Given the description of an element on the screen output the (x, y) to click on. 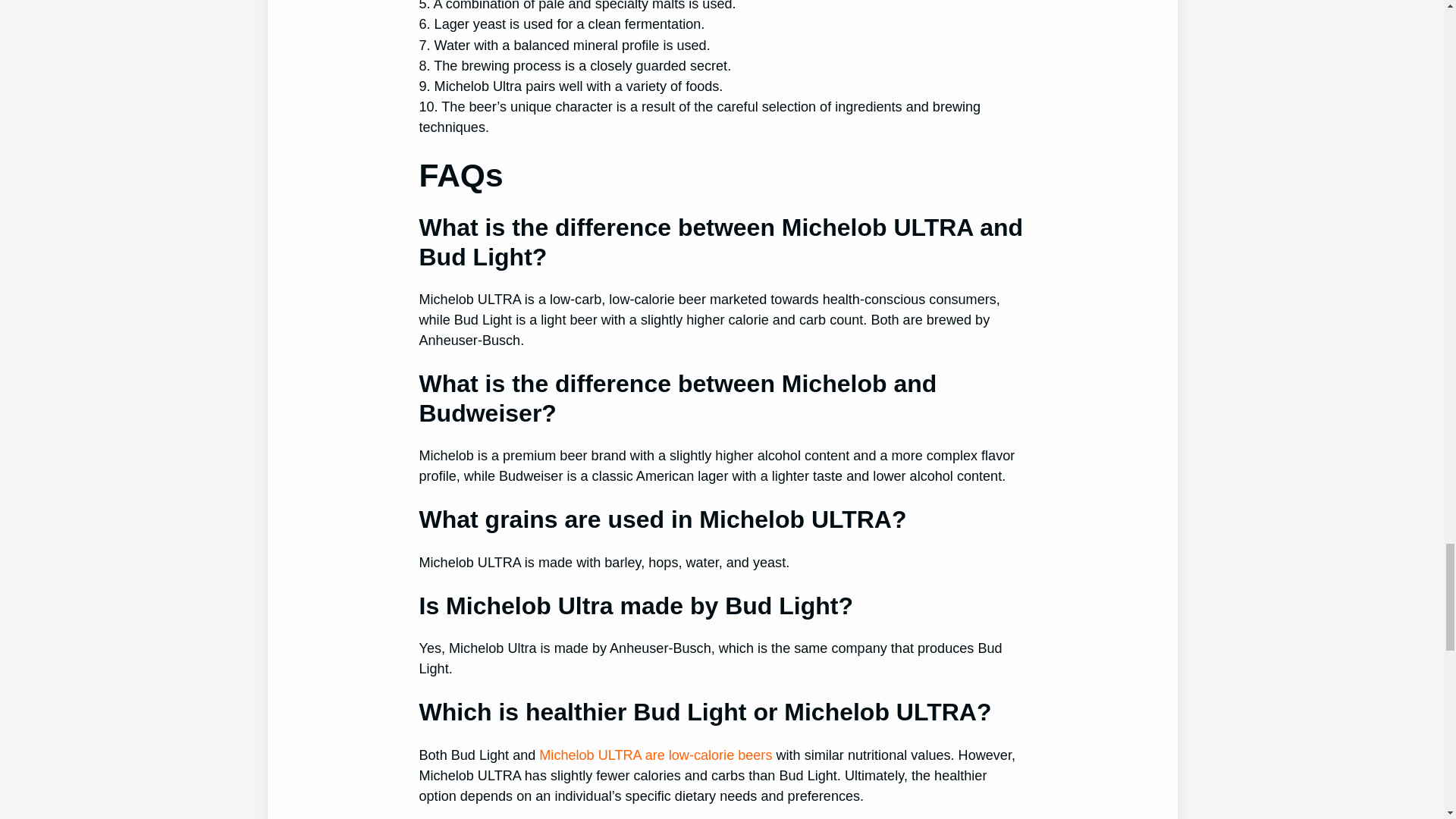
Michelob ULTRA are low-calorie beers (654, 754)
